Given the description of an element on the screen output the (x, y) to click on. 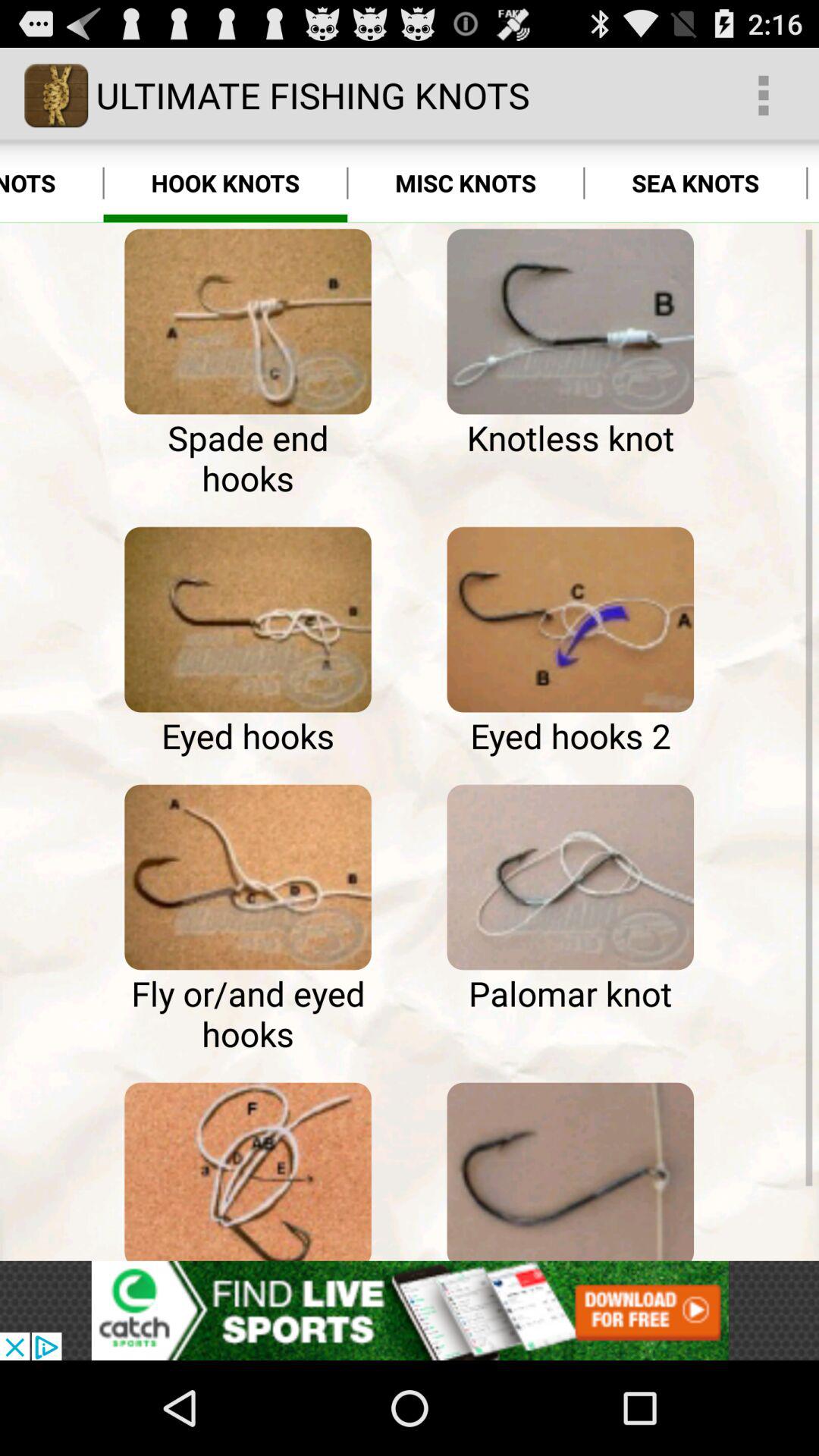
advertisement page (409, 1310)
